Given the description of an element on the screen output the (x, y) to click on. 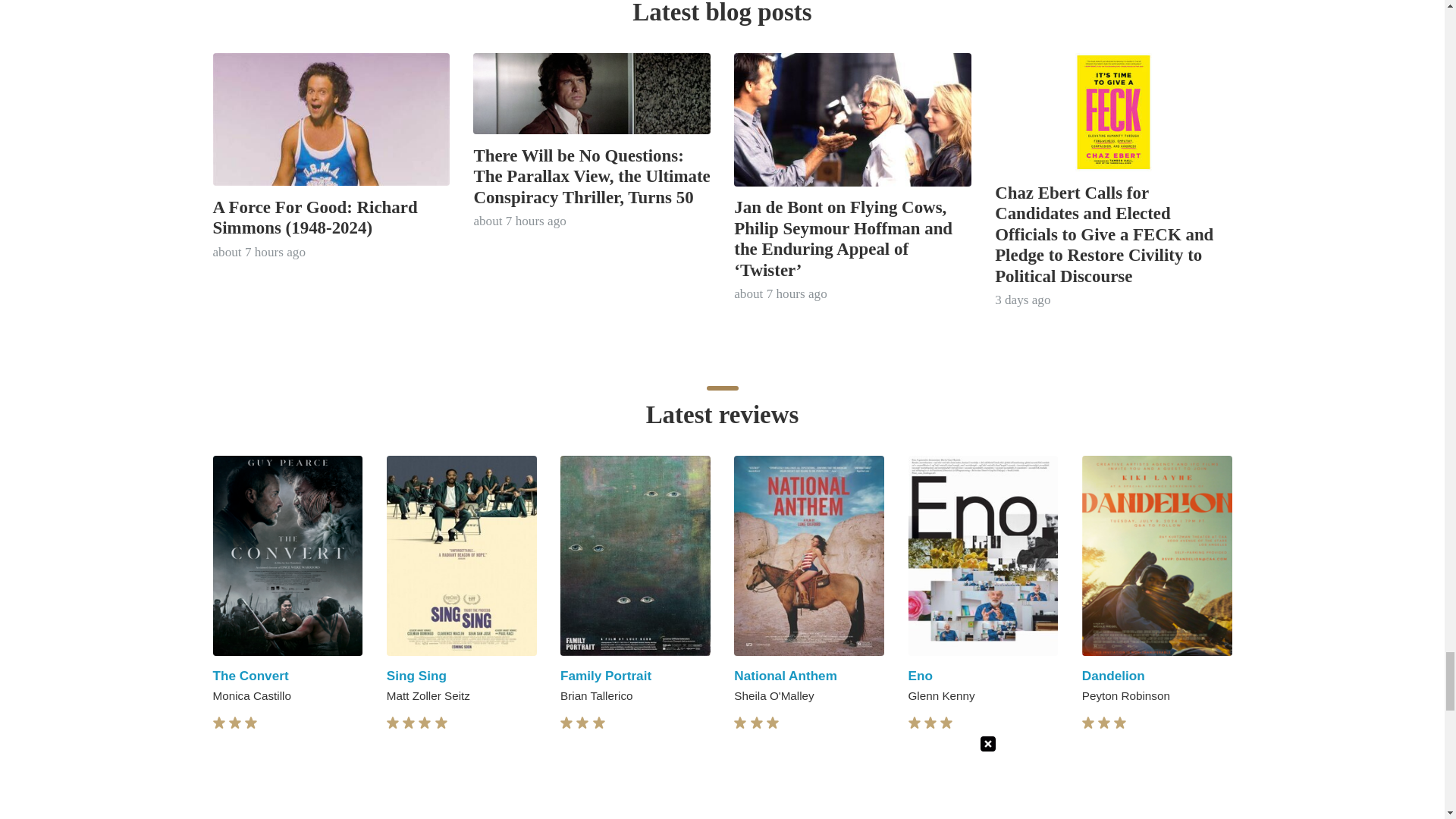
star-full (392, 722)
star-full (424, 722)
star-full (440, 722)
star-full (250, 722)
star-full (218, 722)
star-full (408, 722)
star-full (234, 722)
The Convert (250, 675)
